Given the description of an element on the screen output the (x, y) to click on. 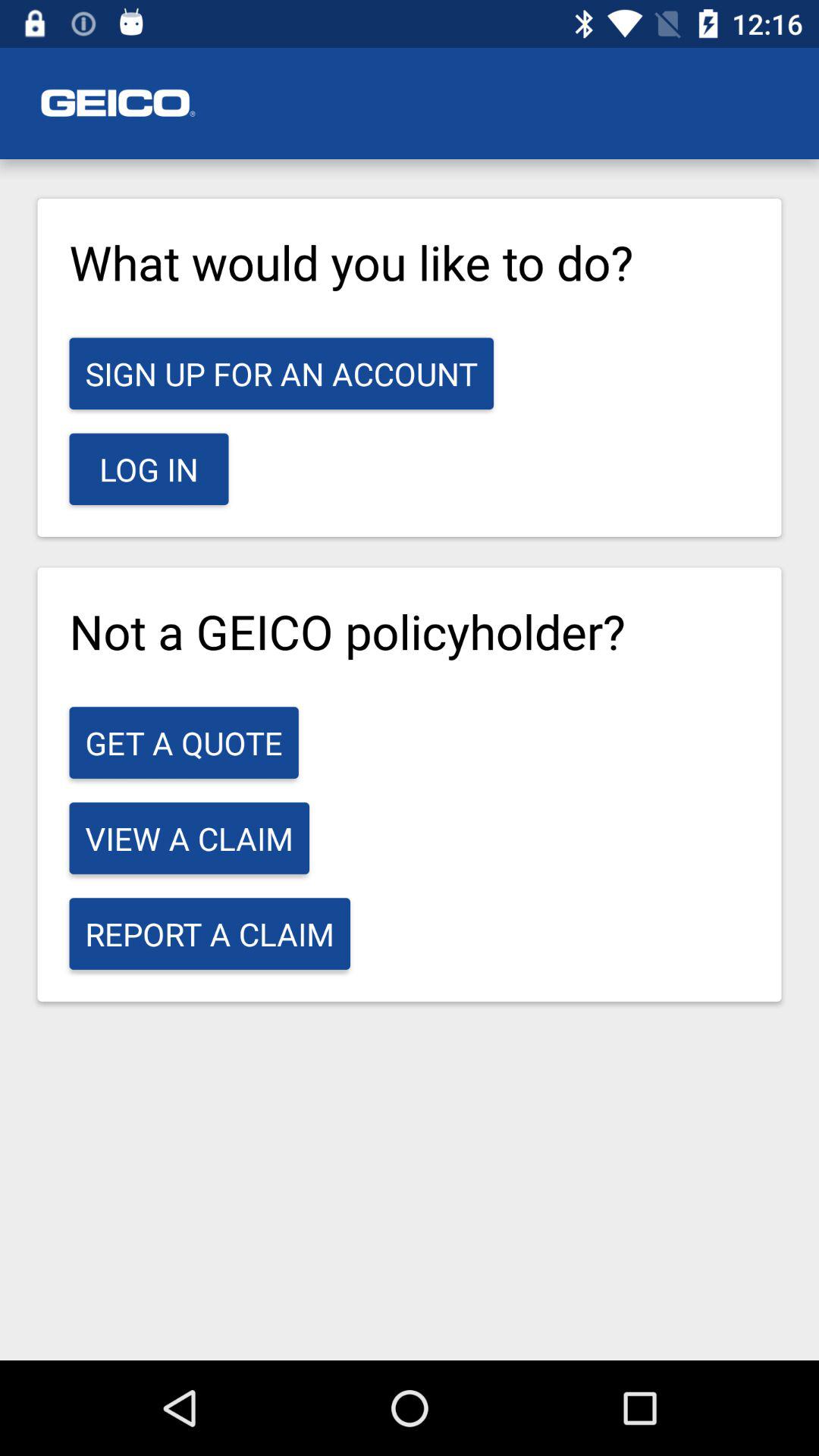
jump until the get a quote (183, 742)
